Given the description of an element on the screen output the (x, y) to click on. 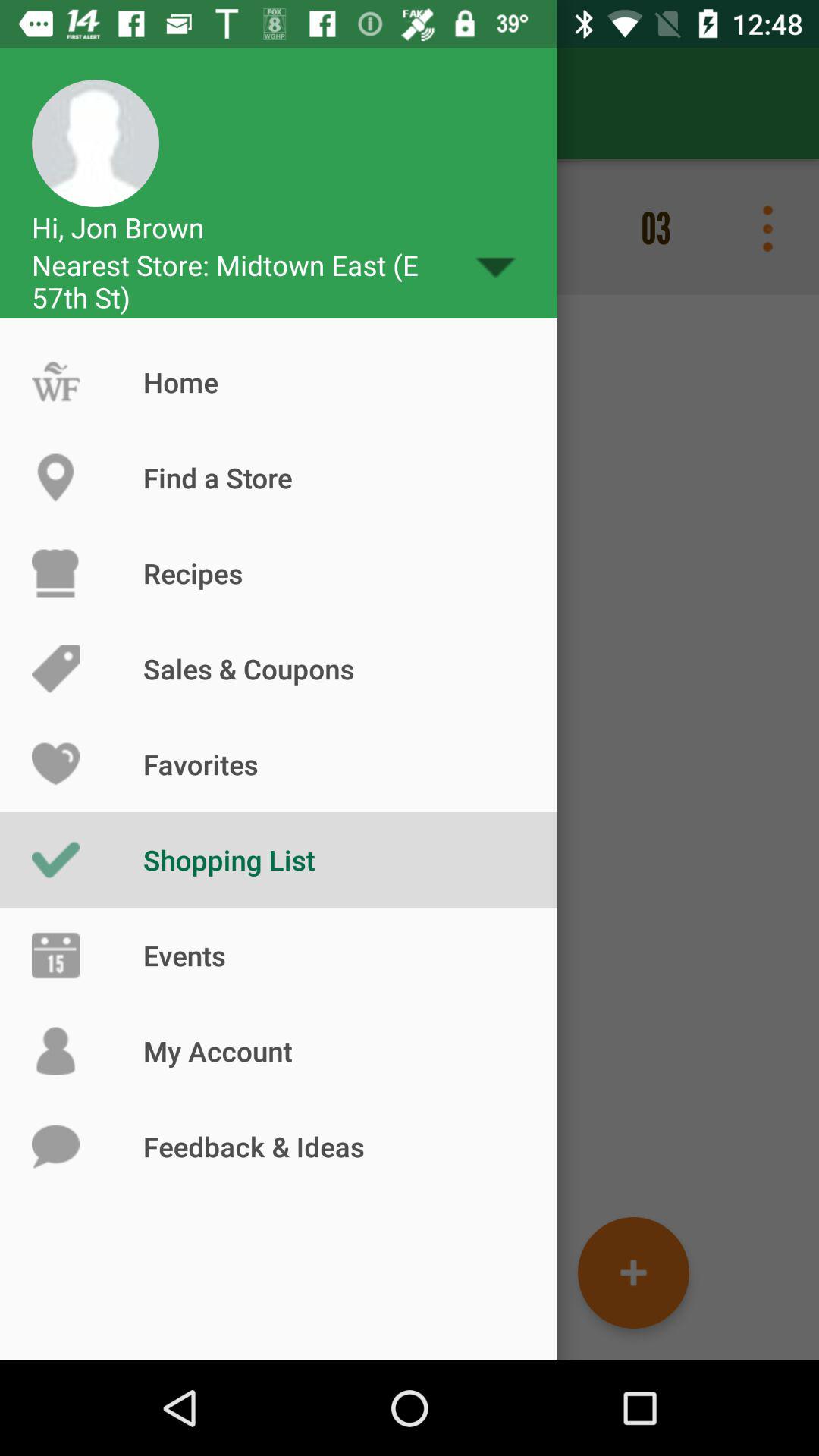
go to top left corner (94, 143)
select the down arrow  beside number 03 (495, 267)
